Given the description of an element on the screen output the (x, y) to click on. 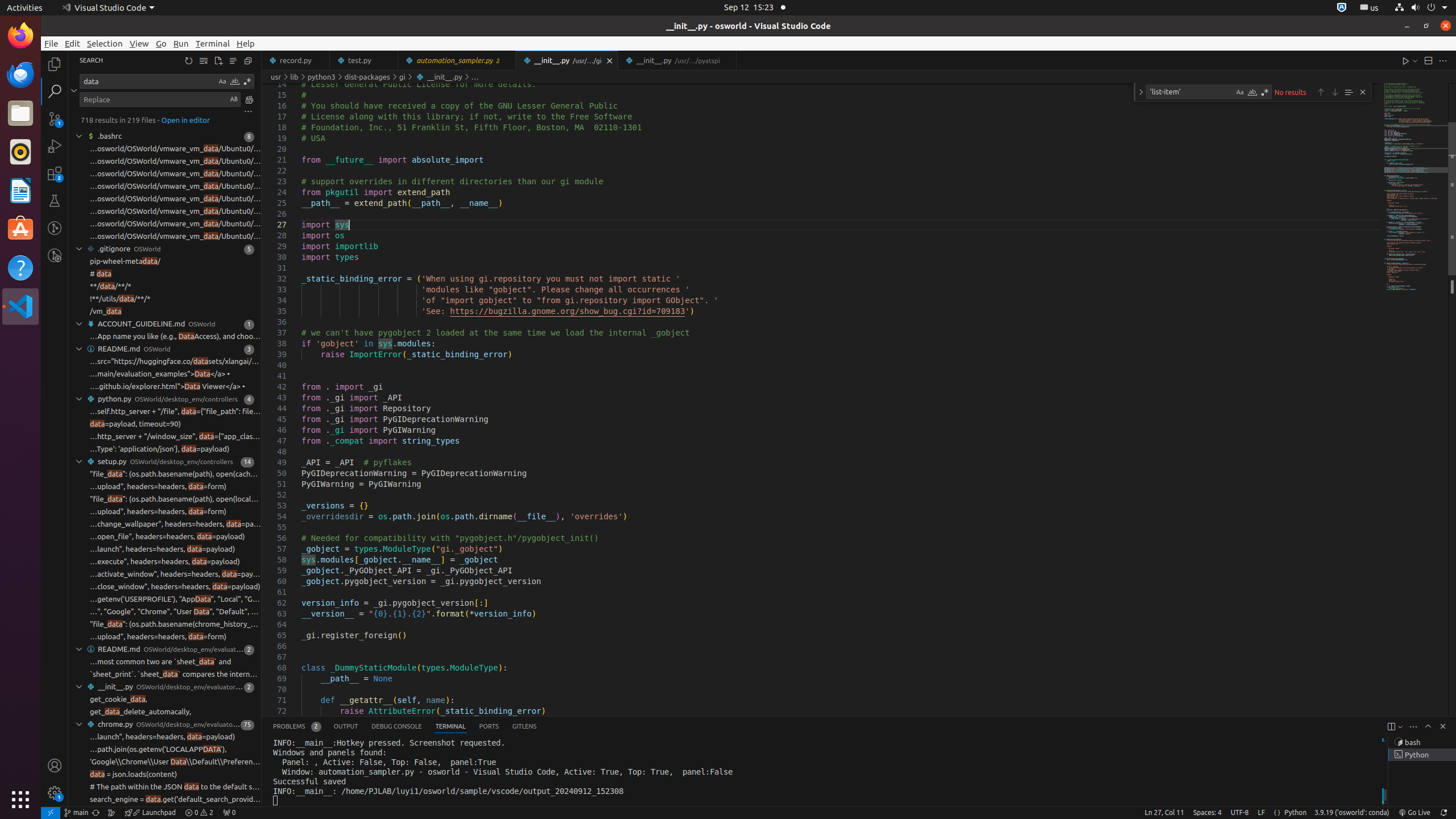
Active View Switcher Element type: page-tab-list (404, 726)
Firefox Web Browser Element type: push-button (20, 35)
test.py Element type: page-tab (363, 60)
Match Whole Word (Alt+W) Element type: check-box (1252, 91)
' response = requests.post(self.http_server + "/list_directory", headers={'Content-Type': 'application/json'}, data=payload)' at column 126 found data Element type: tree-item (164, 448)
